Given the description of an element on the screen output the (x, y) to click on. 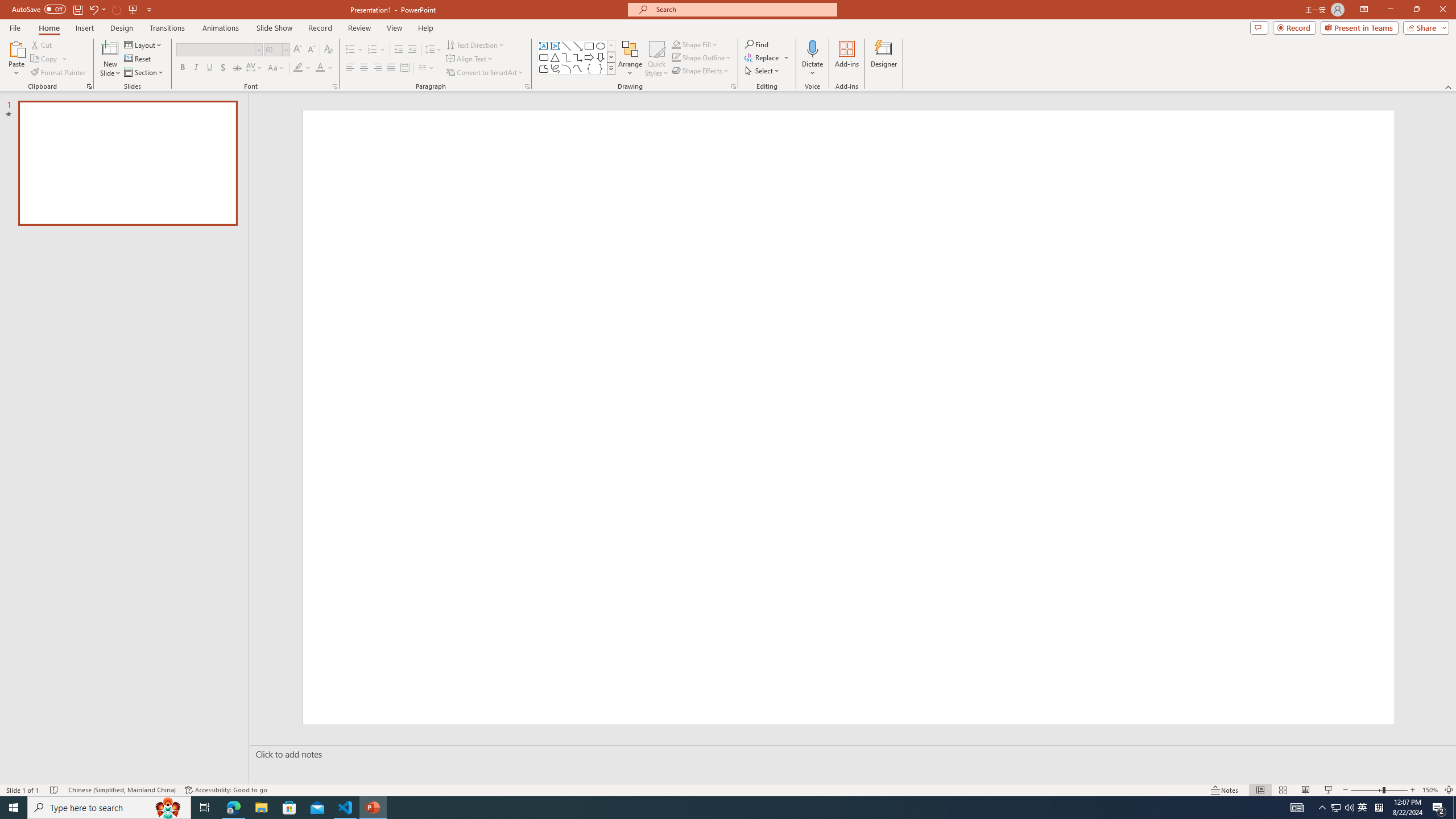
Convert to SmartArt (485, 72)
Decrease Font Size (310, 49)
Connector: Elbow Arrow (577, 57)
Slide Notes (849, 754)
Text Highlight Color Yellow (297, 67)
Text Box (543, 45)
New Slide (110, 58)
Isosceles Triangle (554, 57)
Designer (883, 58)
Line Spacing (433, 49)
